Given the description of an element on the screen output the (x, y) to click on. 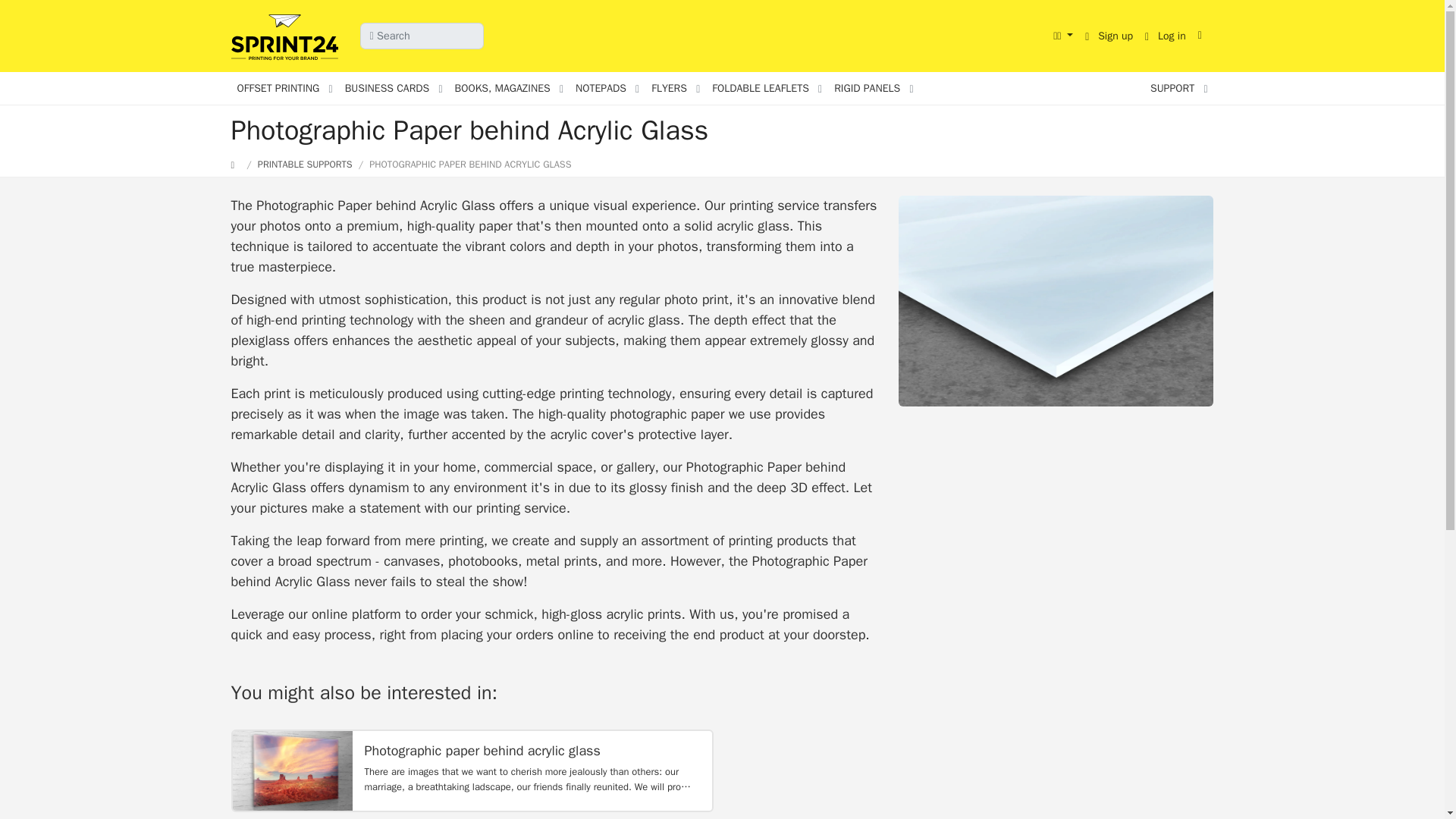
Sign up (1108, 35)
Photographic paper behind acrylic glass (291, 770)
Sprint24 (286, 37)
Photographic Paper behind Acrylic Glass (1055, 300)
Shopping cart (1203, 34)
Log in (1165, 35)
